Given the description of an element on the screen output the (x, y) to click on. 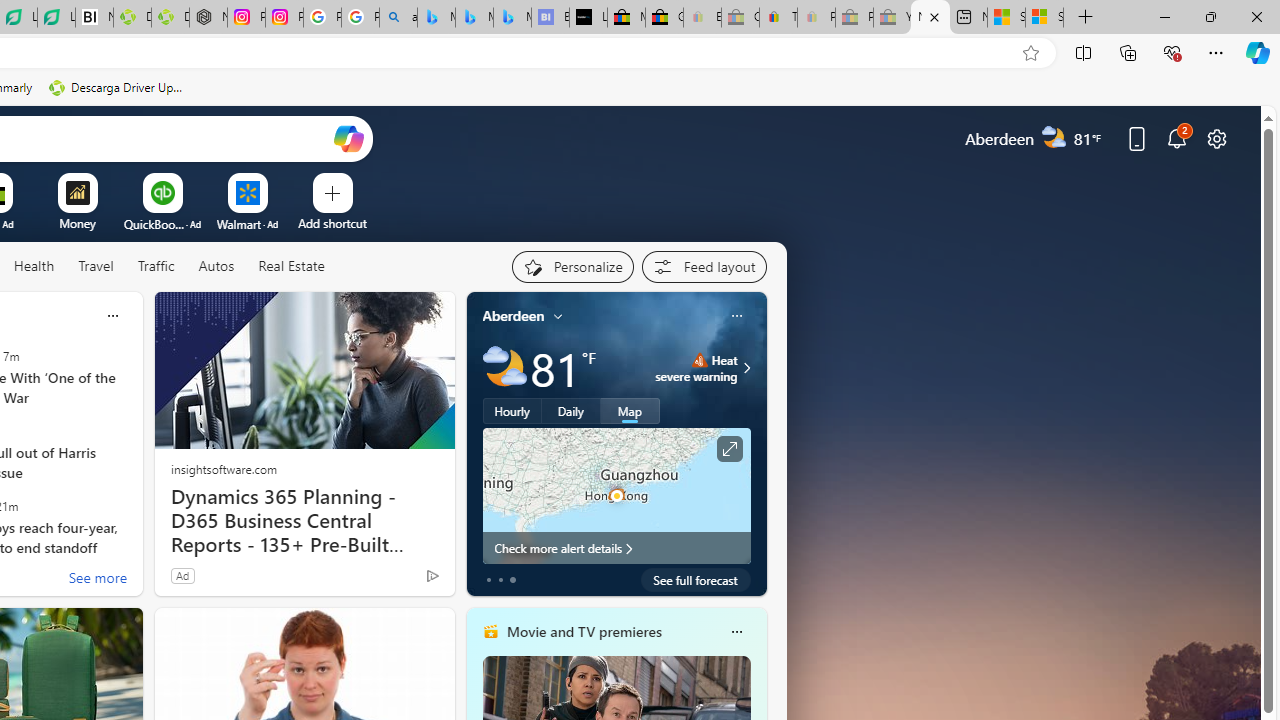
Daily (571, 411)
Payments Terms of Use | eBay.com - Sleeping (815, 17)
alabama high school quarterback dies - Search (398, 17)
Feed settings (703, 266)
Shanghai, China hourly forecast | Microsoft Weather (1006, 17)
